Given the description of an element on the screen output the (x, y) to click on. 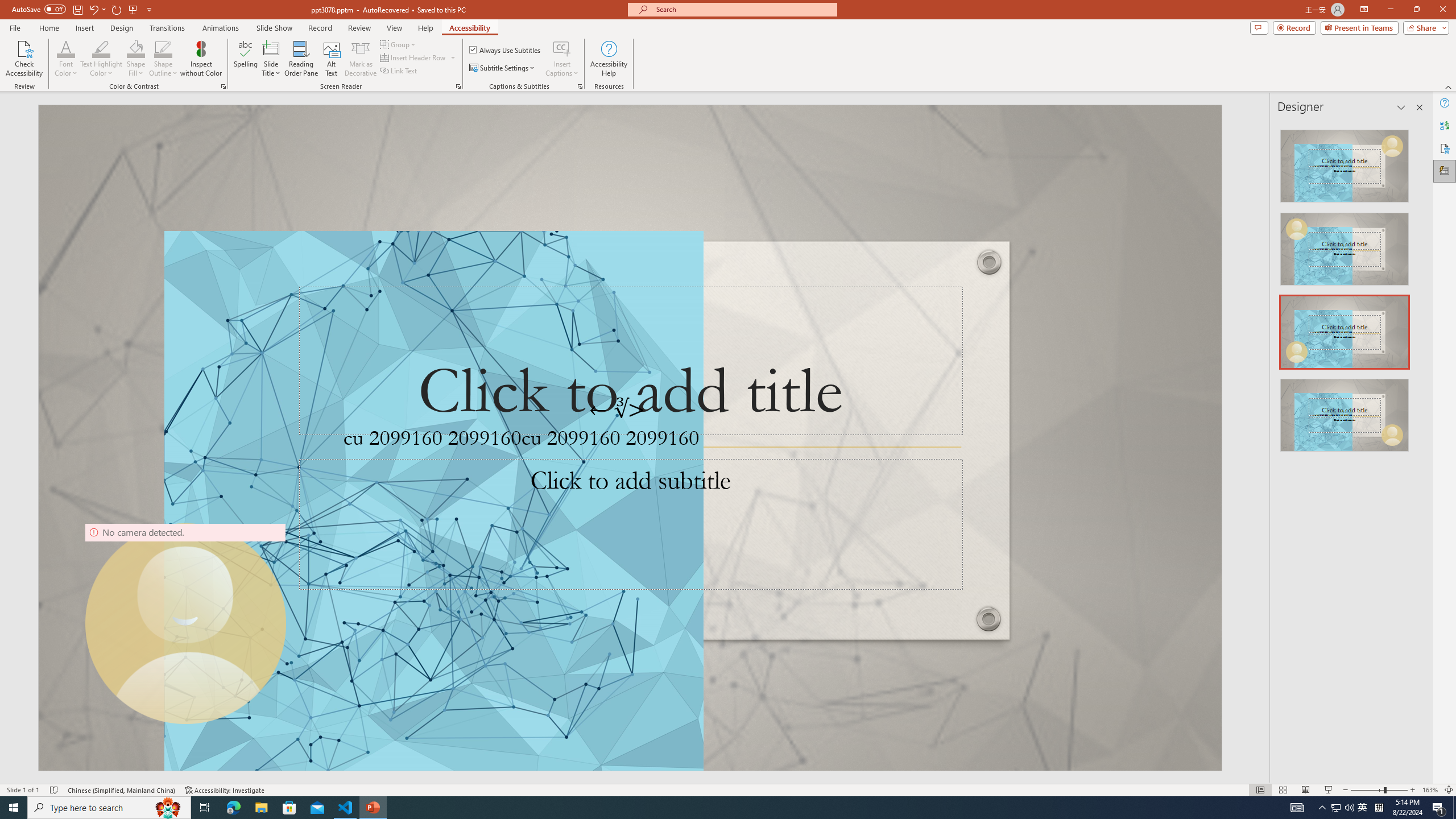
Screen Reader (458, 85)
